Given the description of an element on the screen output the (x, y) to click on. 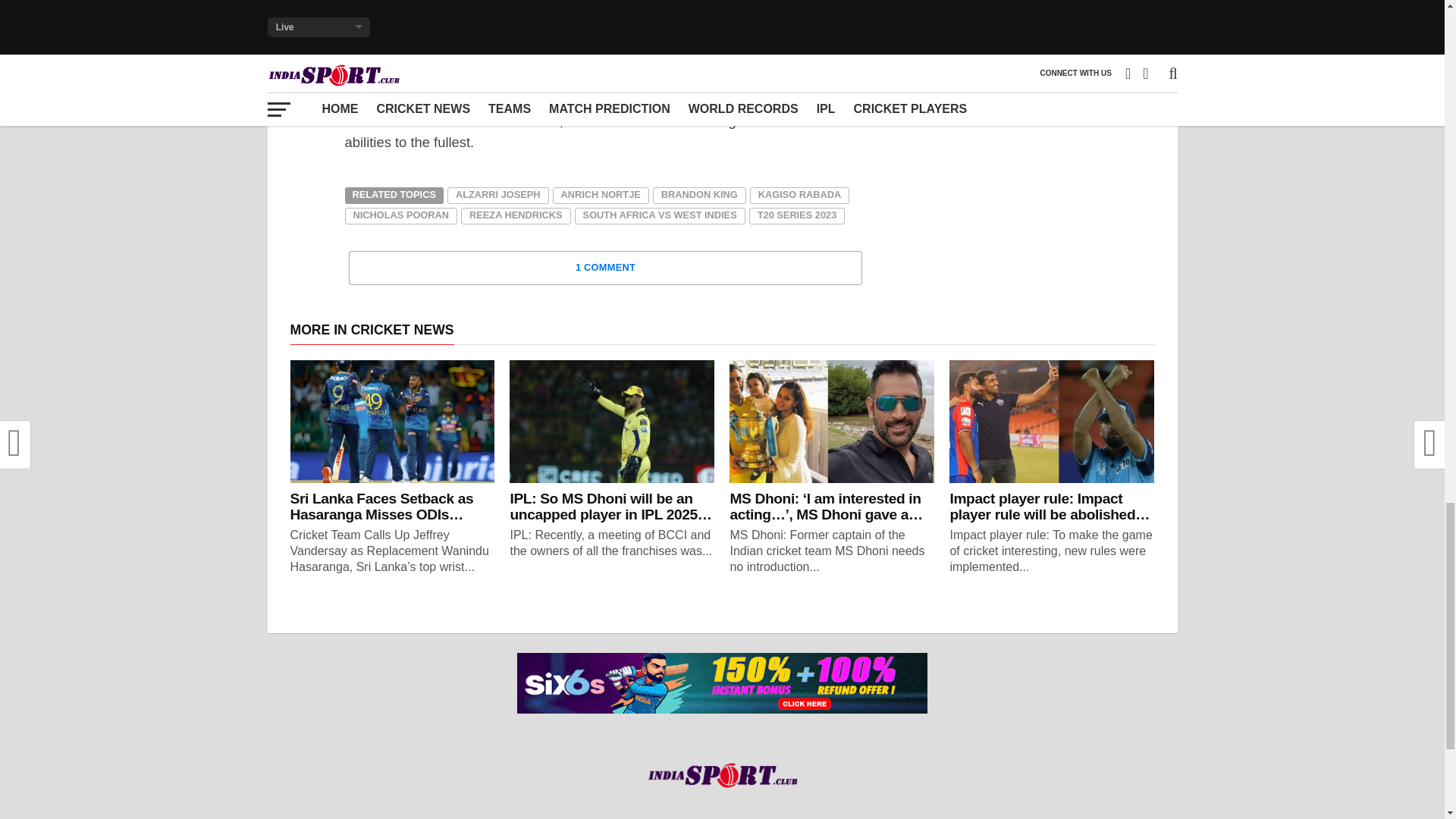
BRANDON KING (698, 195)
ALZARRI JOSEPH (497, 195)
KAGISO RABADA (799, 195)
ANRICH NORTJE (601, 195)
